Given the description of an element on the screen output the (x, y) to click on. 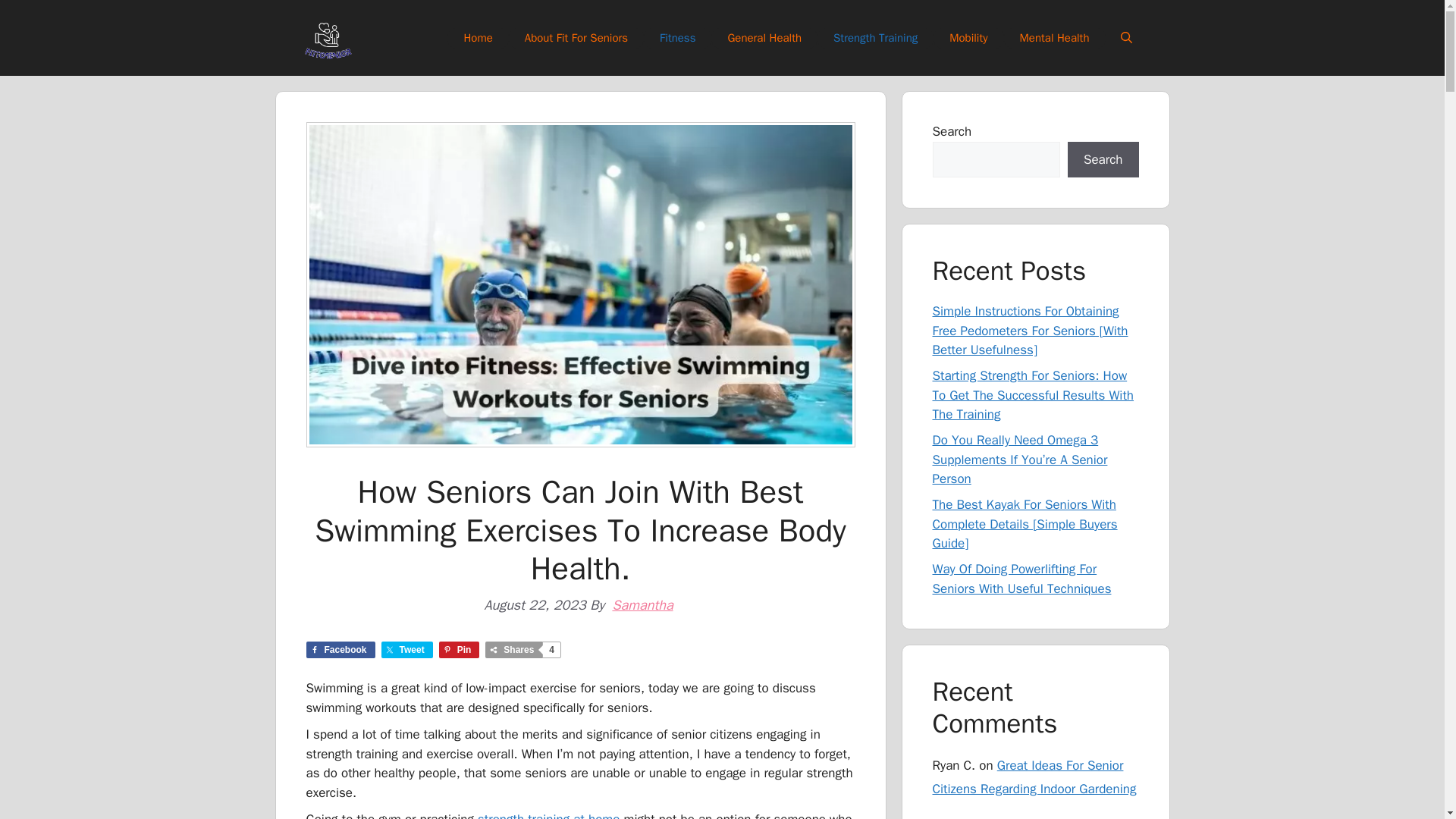
General Health (763, 37)
About Fit For Seniors (575, 37)
Facebook (340, 649)
Samantha (641, 605)
strength training at home (548, 815)
Share on Pinterest (459, 649)
View all posts by Samantha (641, 605)
Mobility (968, 37)
Share on Facebook (340, 649)
Home (477, 37)
